Given the description of an element on the screen output the (x, y) to click on. 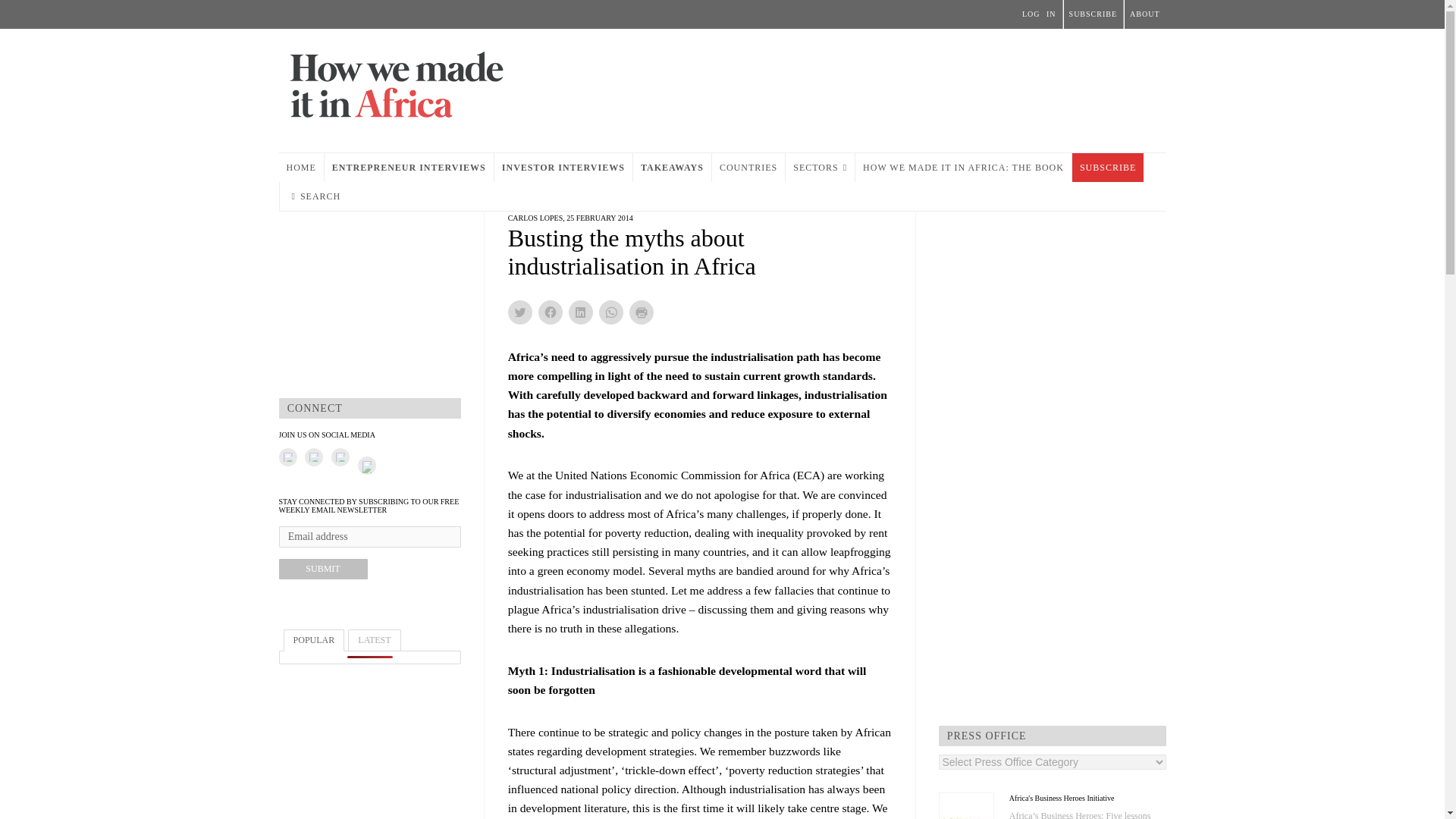
Posts by Carlos Lopes (535, 217)
CARLOS LOPES (535, 217)
Submit (323, 568)
HOW WE MADE IT IN AFRICA: THE BOOK (963, 167)
Click to print (640, 312)
SECTORS (820, 167)
SEARCH (315, 195)
HOME (301, 167)
SUBSCRIBE (1106, 167)
Click to share on LinkedIn (580, 312)
